Given the description of an element on the screen output the (x, y) to click on. 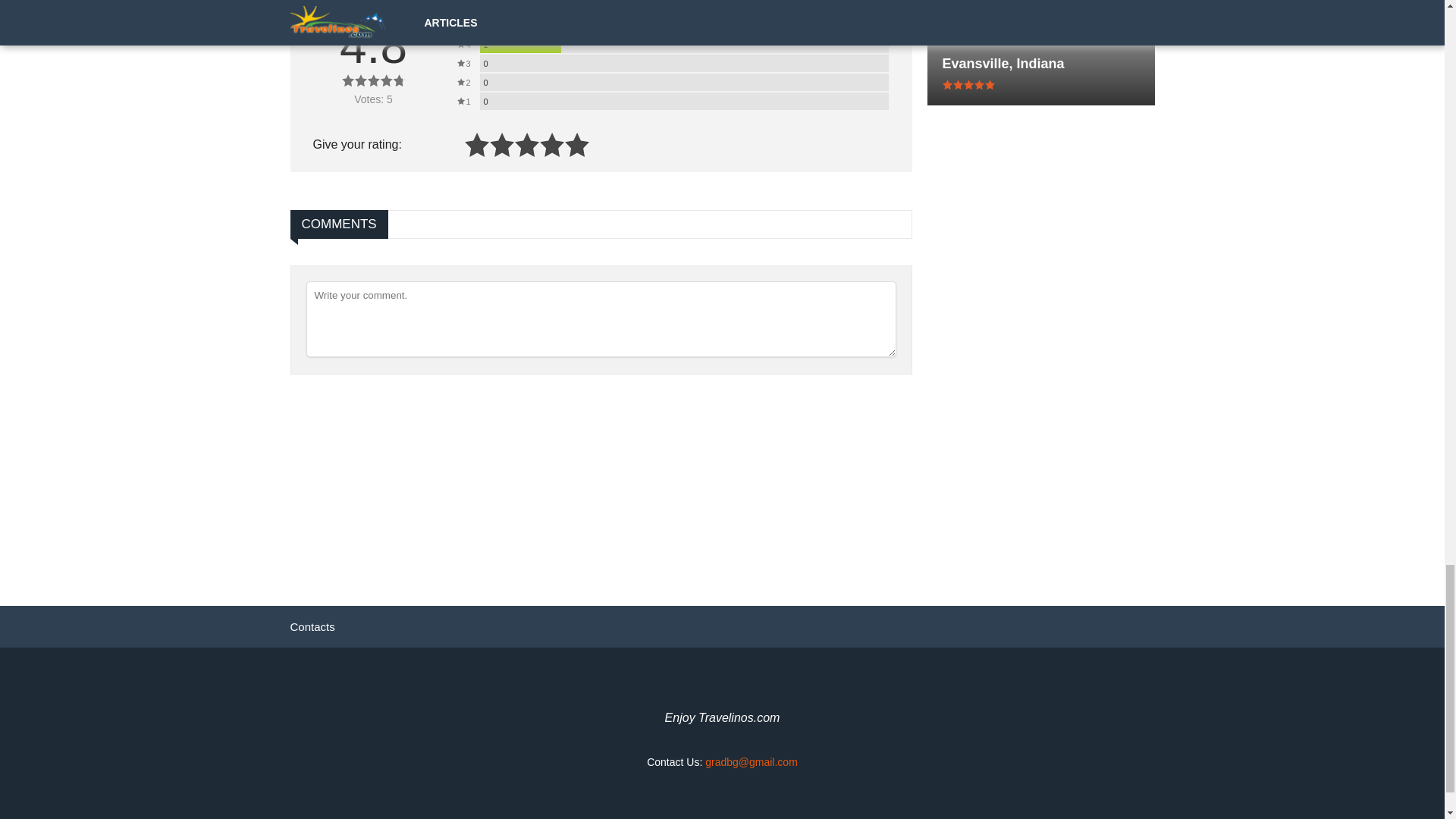
Evansville, Indiana (1040, 63)
Evansville, Indiana (1040, 63)
